Given the description of an element on the screen output the (x, y) to click on. 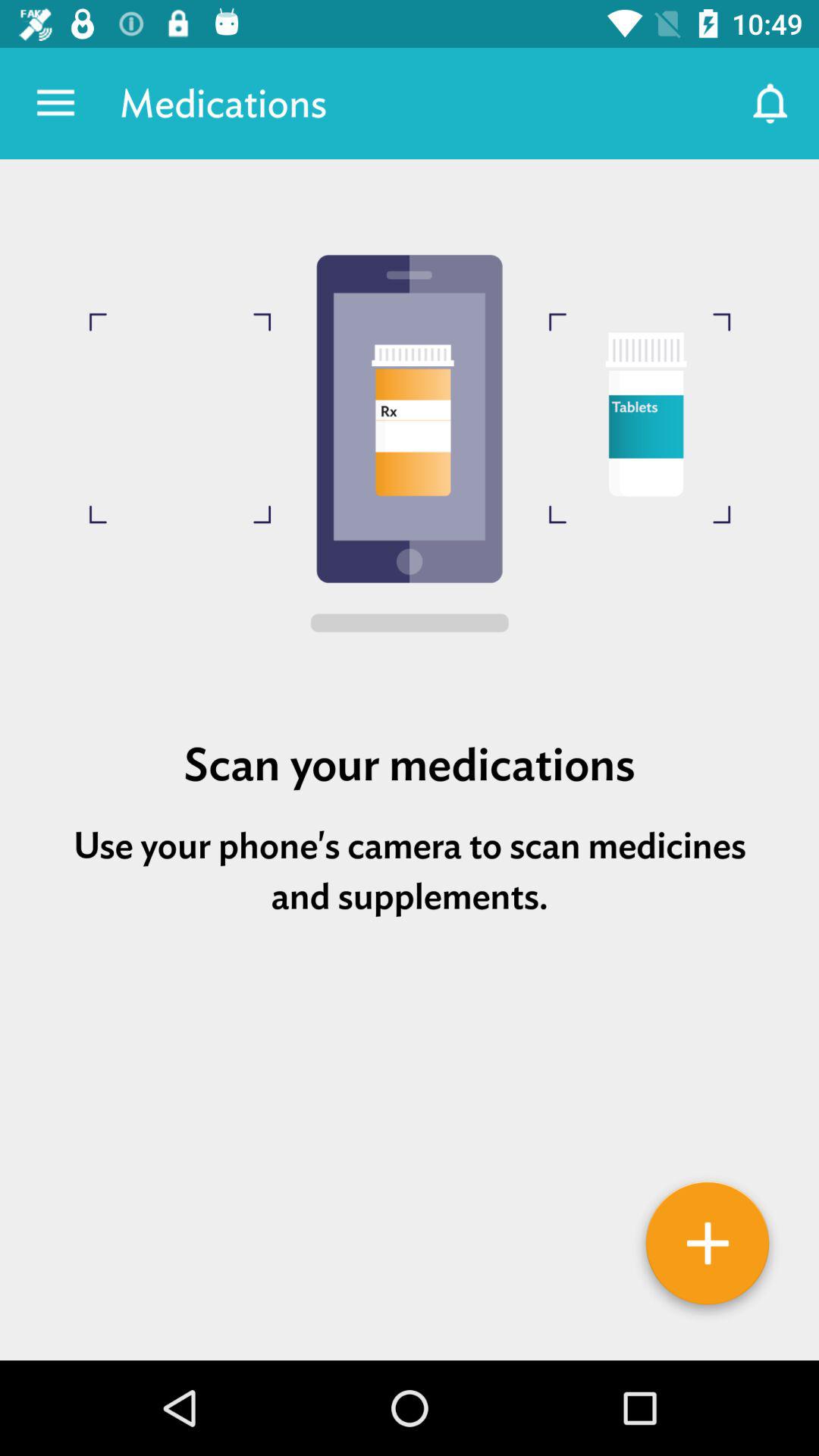
open the icon next to the medications item (771, 103)
